Given the description of an element on the screen output the (x, y) to click on. 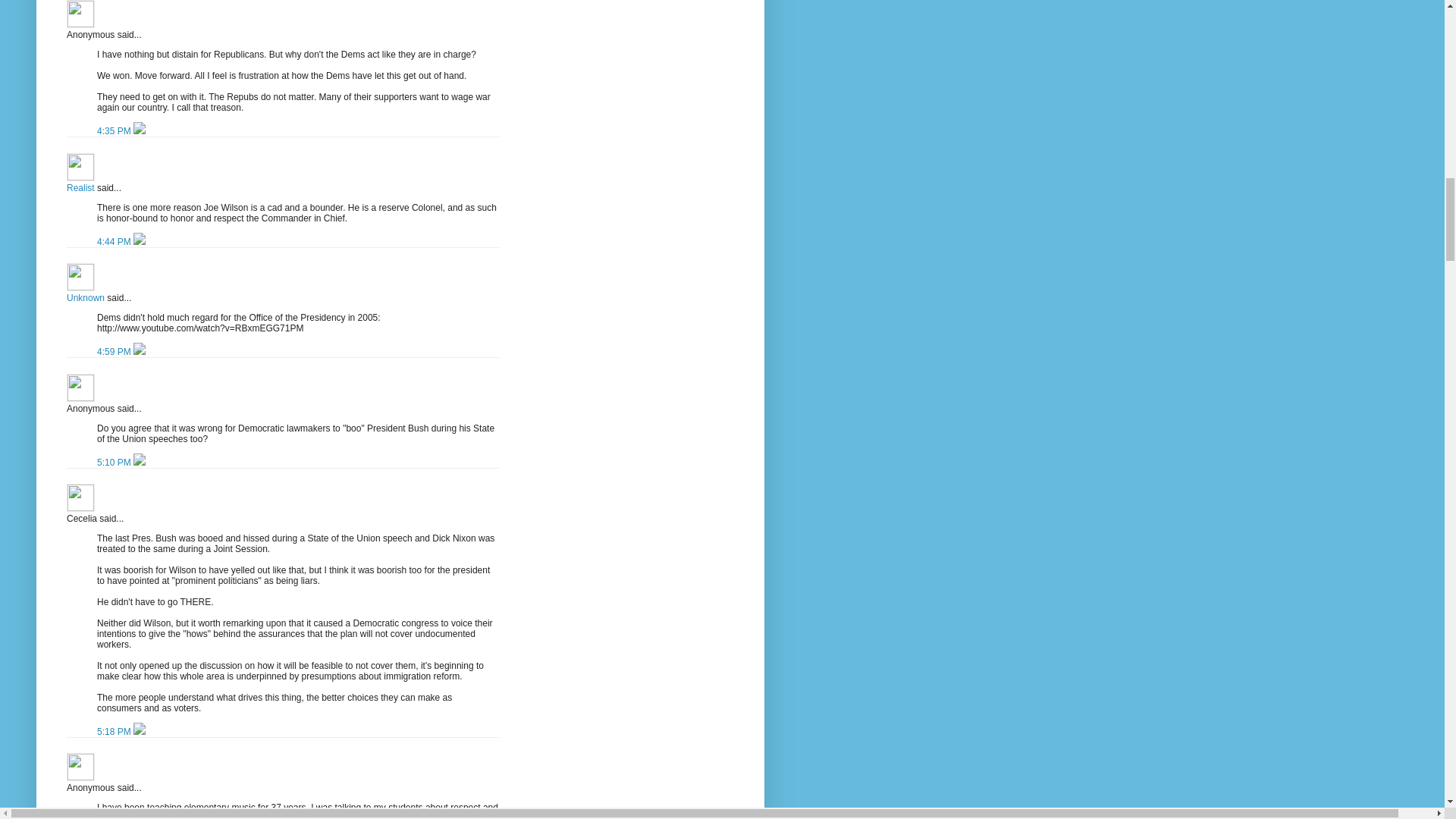
5:18 PM (115, 731)
4:59 PM (115, 351)
Unknown (85, 297)
comment permalink (115, 131)
Realist (80, 166)
comment permalink (115, 241)
4:44 PM (115, 241)
comment permalink (115, 351)
5:10 PM (115, 462)
Realist (80, 187)
Delete Comment (139, 131)
Anonymous (80, 13)
4:35 PM (115, 131)
Unknown (80, 276)
Delete Comment (139, 241)
